Given the description of an element on the screen output the (x, y) to click on. 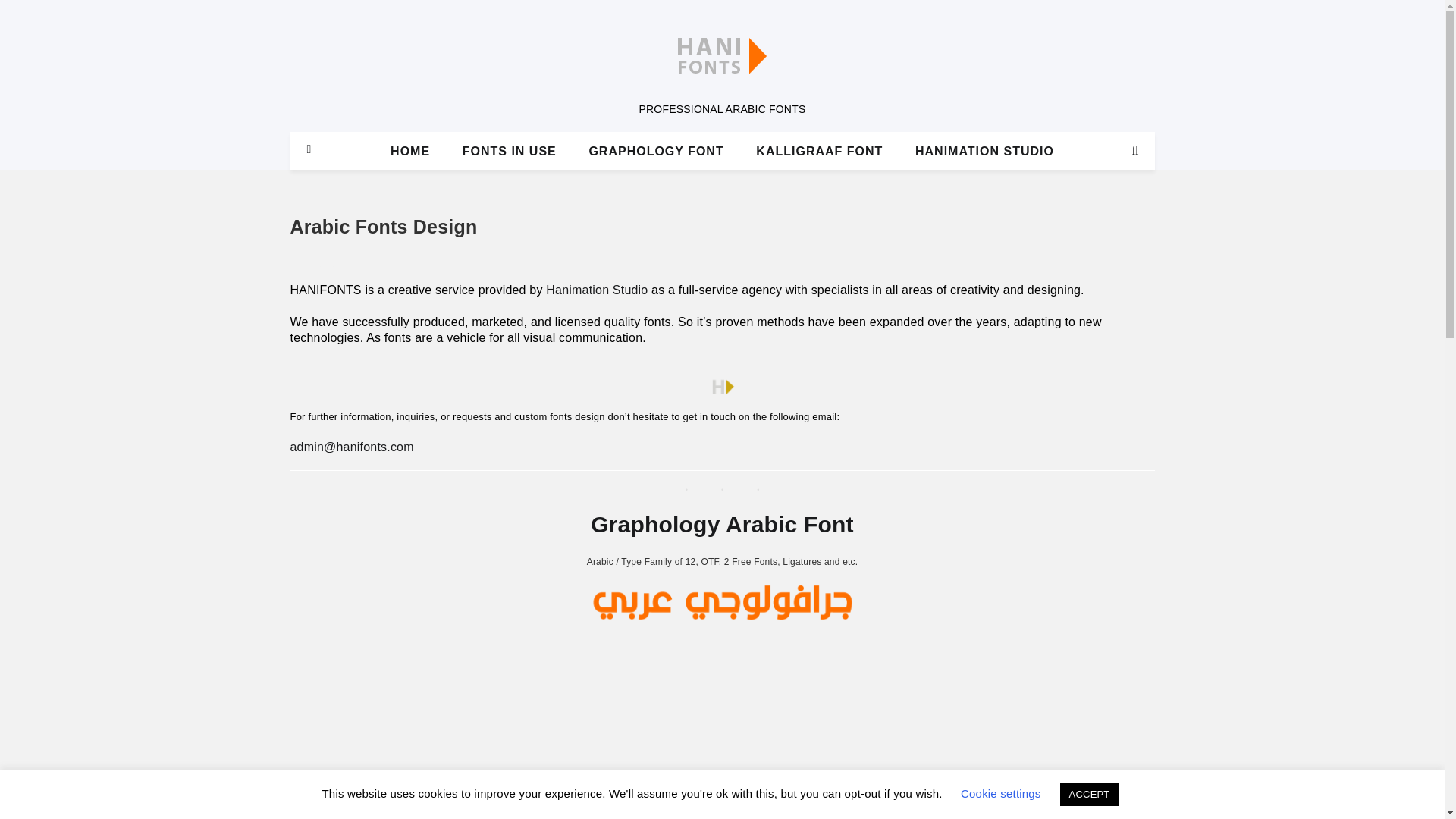
ACCEPT (1089, 793)
GRAPHOLOGY FONT (655, 151)
Search (1134, 150)
HANIMATION STUDIO (984, 151)
Hanimation Studio (596, 289)
Graphology Arabic Font (722, 524)
FONTS IN USE (509, 151)
KALLIGRAAF FONT (818, 151)
Cookie settings (1000, 793)
HOME (409, 151)
Twitter (308, 188)
